Given the description of an element on the screen output the (x, y) to click on. 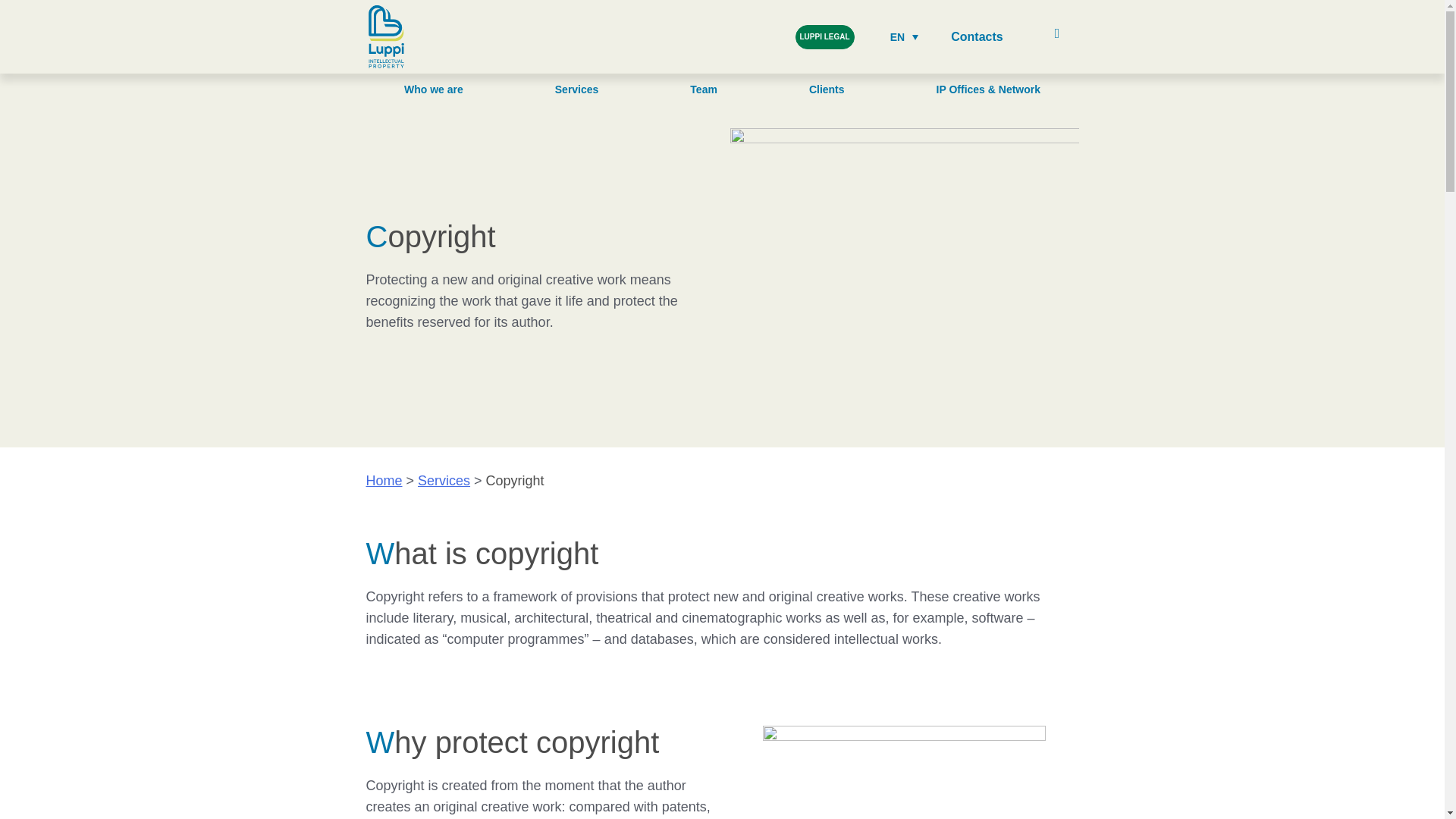
EN (904, 36)
Contacts (976, 36)
LUPPI LEGAL (823, 37)
